Given the description of an element on the screen output the (x, y) to click on. 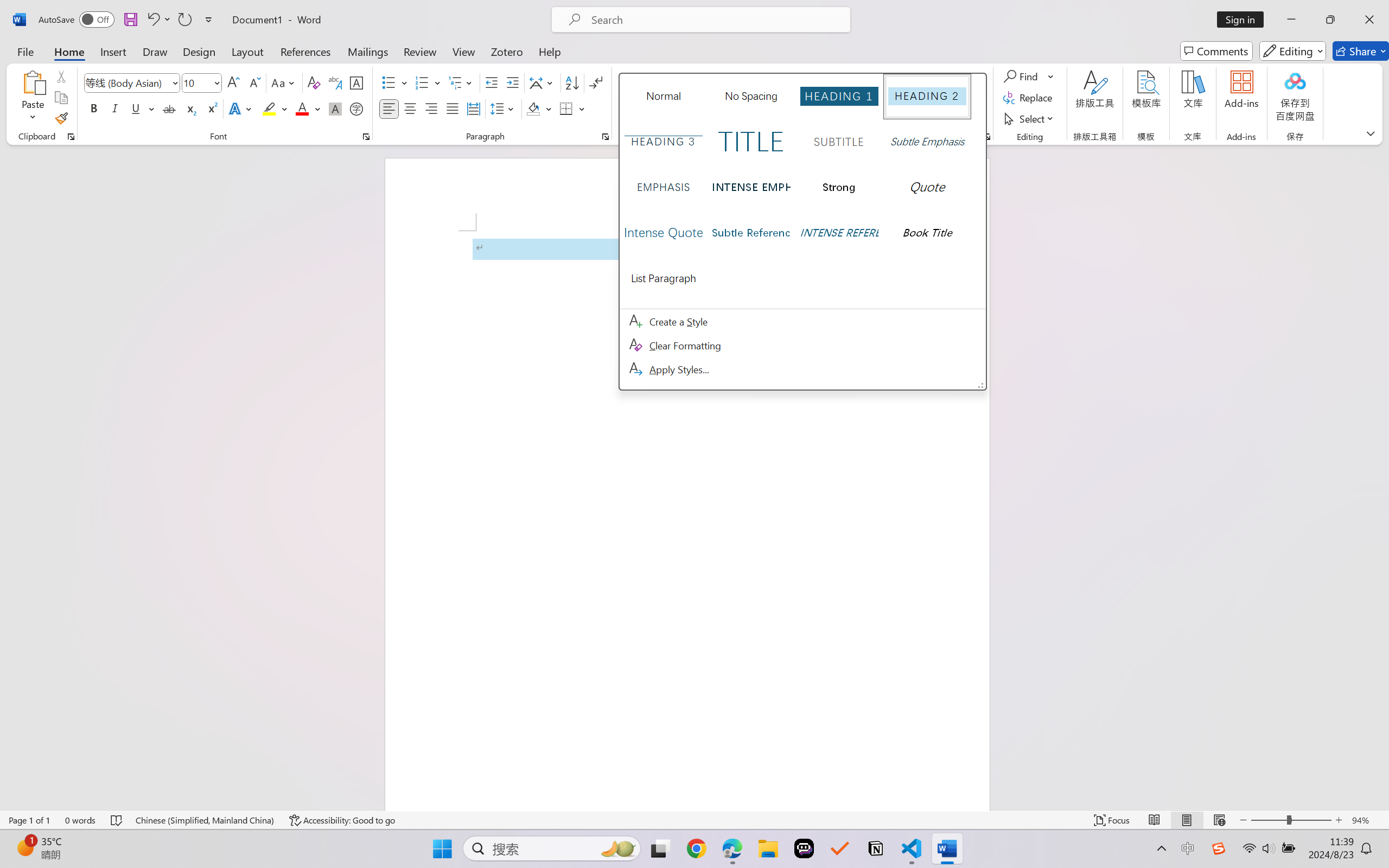
Class: Net UI Tool Window (802, 231)
